Given the description of an element on the screen output the (x, y) to click on. 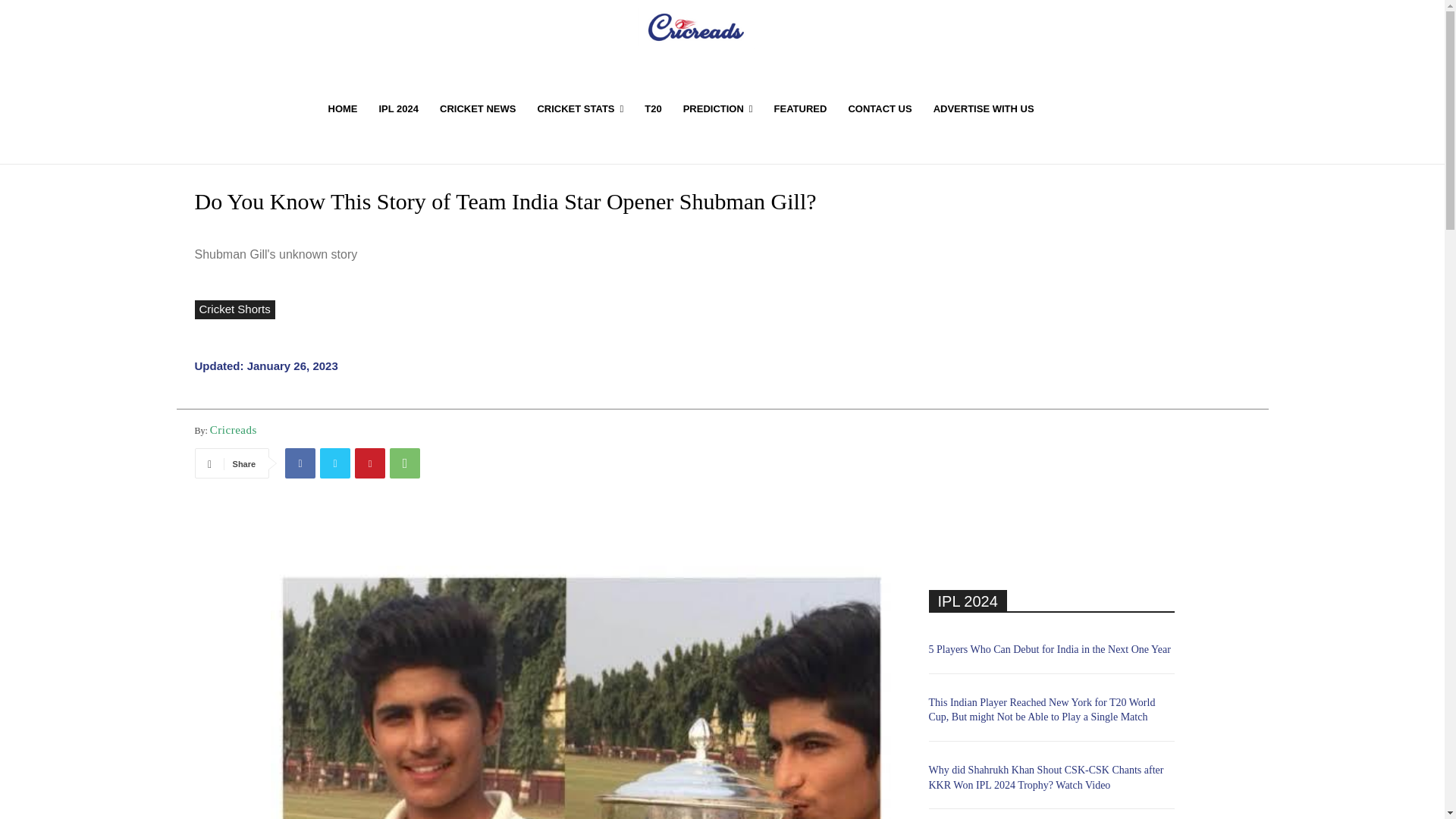
IPL 2024 (398, 108)
FEATURED (800, 108)
Pinterest (370, 462)
Cricreads (233, 429)
Twitter (335, 462)
PREDICTION (717, 108)
CRICKET NEWS (477, 108)
T20 (652, 108)
WhatsApp (405, 462)
Cricket Shorts (234, 309)
CRICKET STATS (579, 108)
ADVERTISE WITH US (984, 108)
CONTACT US (879, 108)
Facebook (300, 462)
5 Players Who Can Debut for India in the Next One Year (1049, 649)
